Given the description of an element on the screen output the (x, y) to click on. 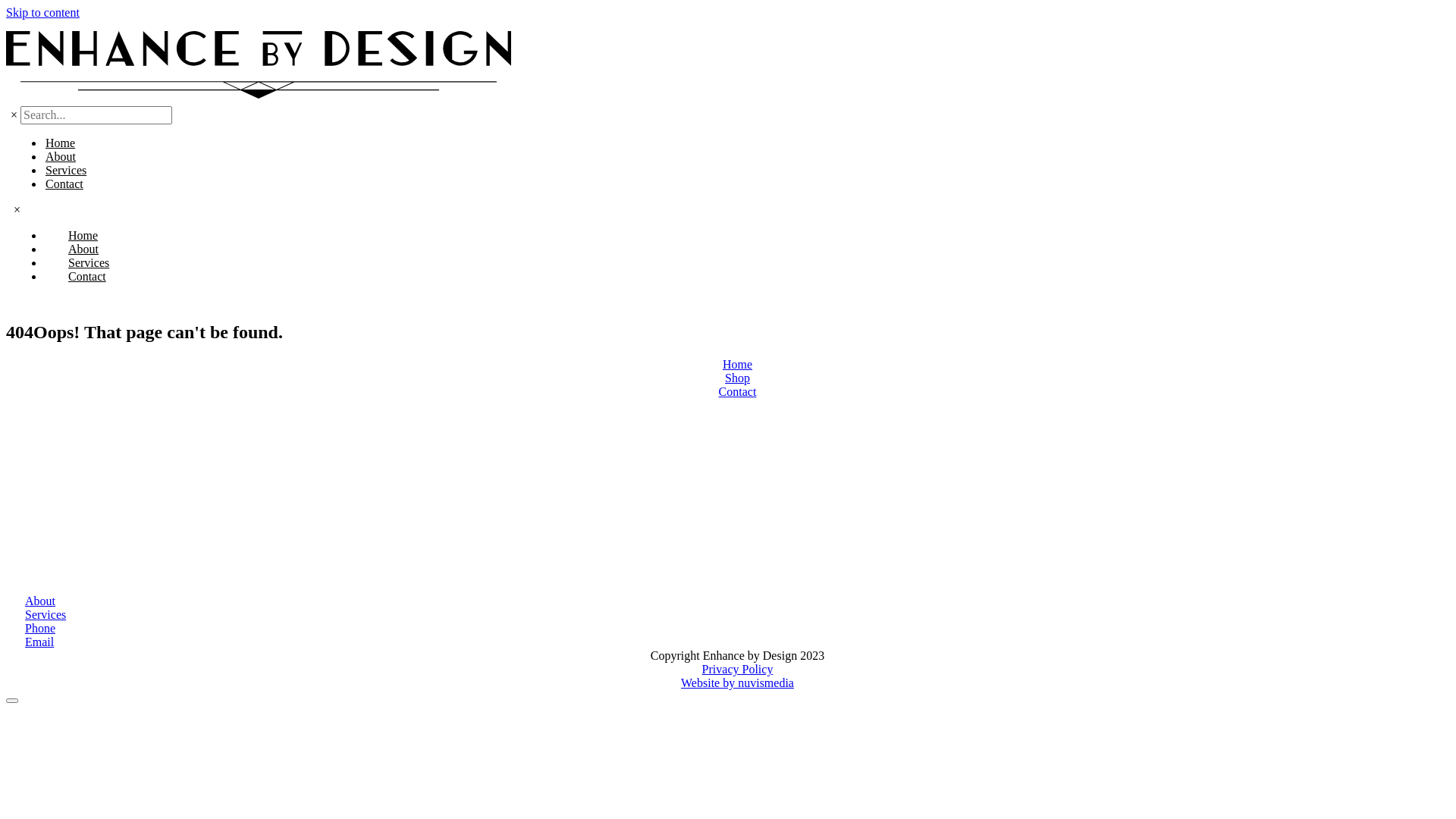
Home Element type: text (727, 364)
Website by nuvismedia Element type: text (727, 683)
About Element type: text (82, 248)
Services Element type: text (727, 614)
Home Element type: text (82, 234)
Contact Element type: text (63, 184)
Shop Element type: text (727, 378)
Skip to content Element type: text (42, 12)
About Element type: text (60, 157)
Contact Element type: text (727, 391)
About Element type: text (727, 601)
Phone Element type: text (727, 628)
Email Element type: text (727, 642)
Services Element type: text (65, 170)
Services Element type: text (88, 262)
Home Element type: text (59, 143)
Contact Element type: text (86, 275)
Privacy Policy Element type: text (727, 669)
